Given the description of an element on the screen output the (x, y) to click on. 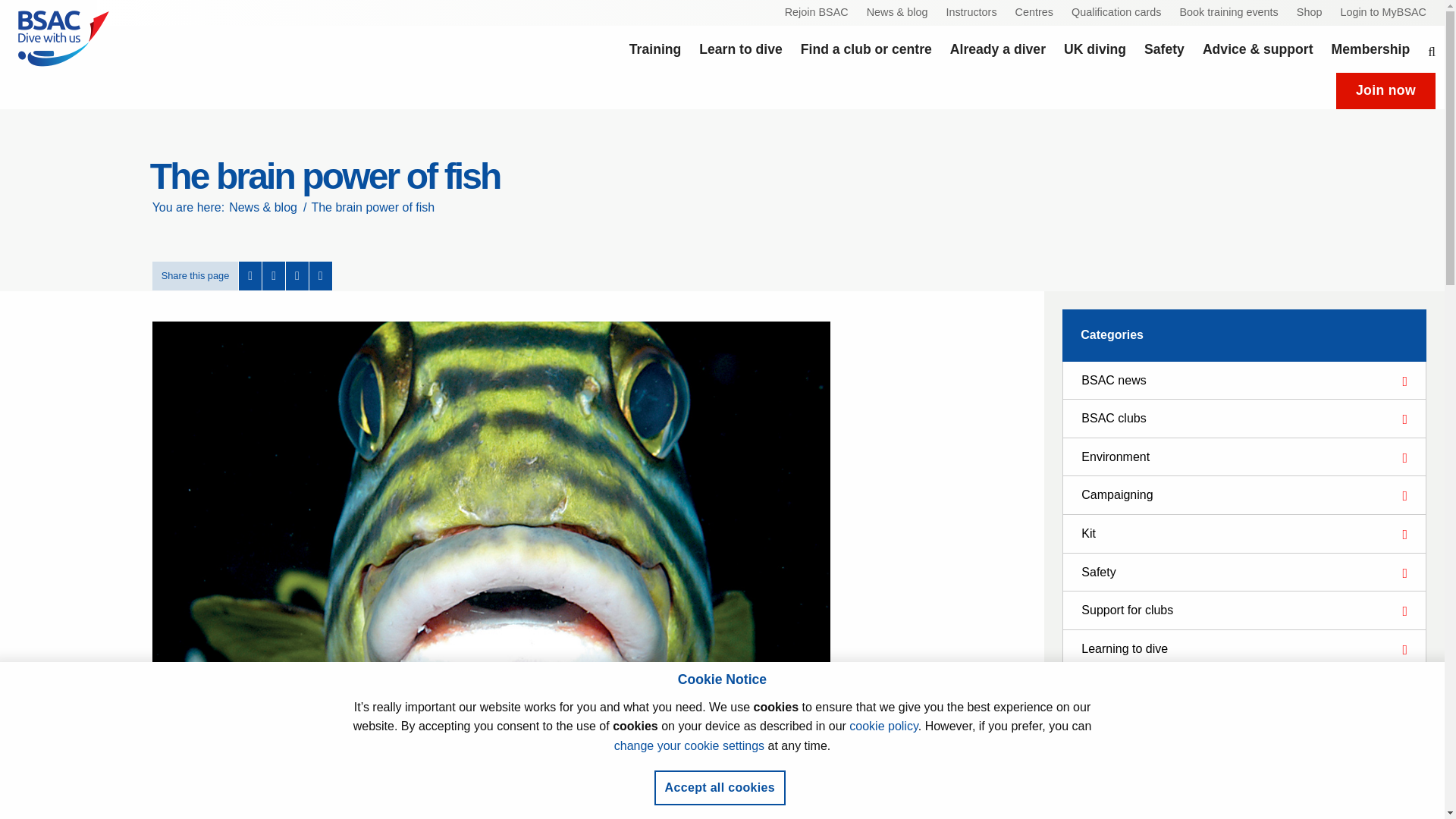
Centres (1033, 12)
Book training events (1228, 12)
Training (655, 48)
Login to MyBSAC (1382, 12)
Instructors (969, 12)
Shop (1309, 12)
Rejoin BSAC (816, 12)
Qualification cards (1115, 12)
